Given the description of an element on the screen output the (x, y) to click on. 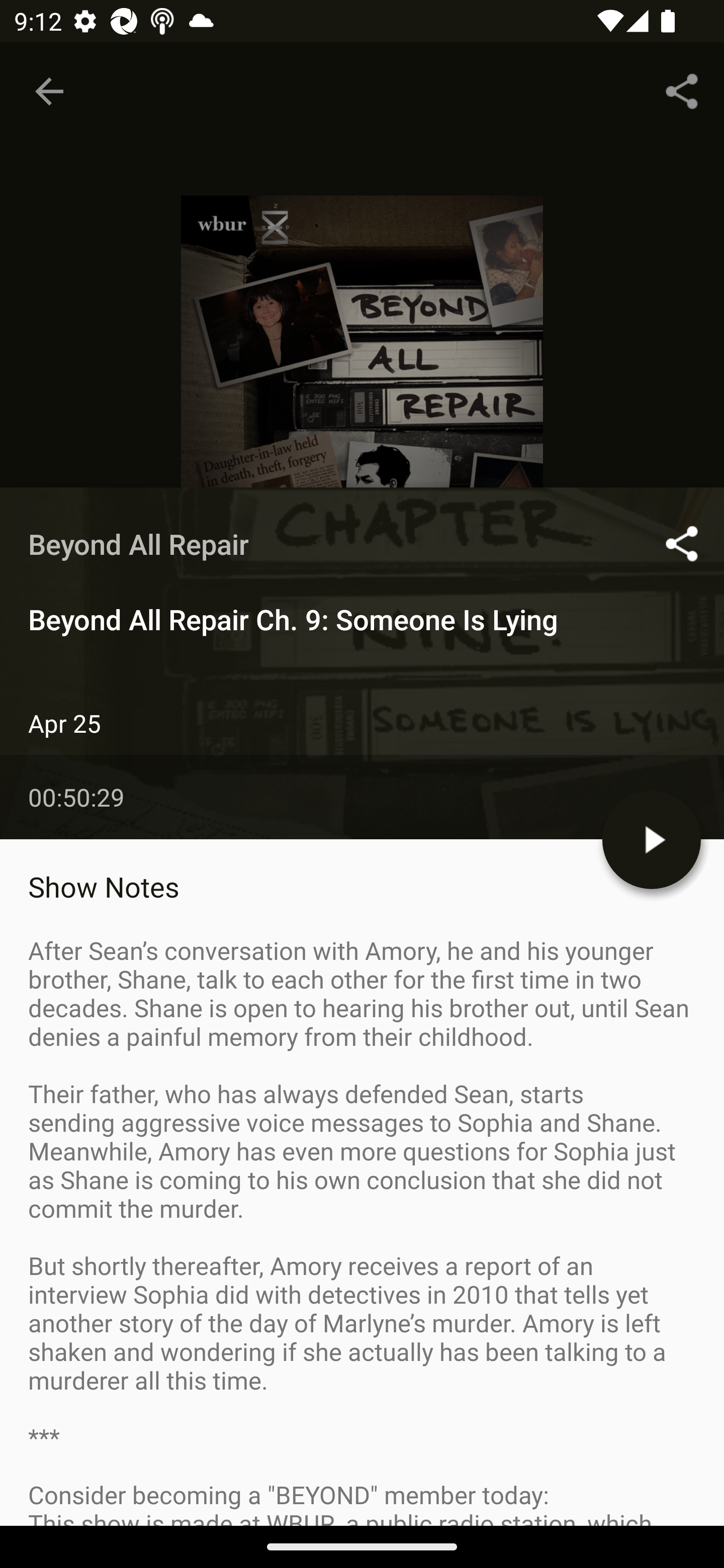
Navigate up (49, 91)
Share... (681, 90)
Apr 25 Beyond All Repair Ch. 9: Someone Is Lying (362, 867)
Apr 18 Beyond All Repair Ch. 8: Anthony Snow (362, 985)
